Given the description of an element on the screen output the (x, y) to click on. 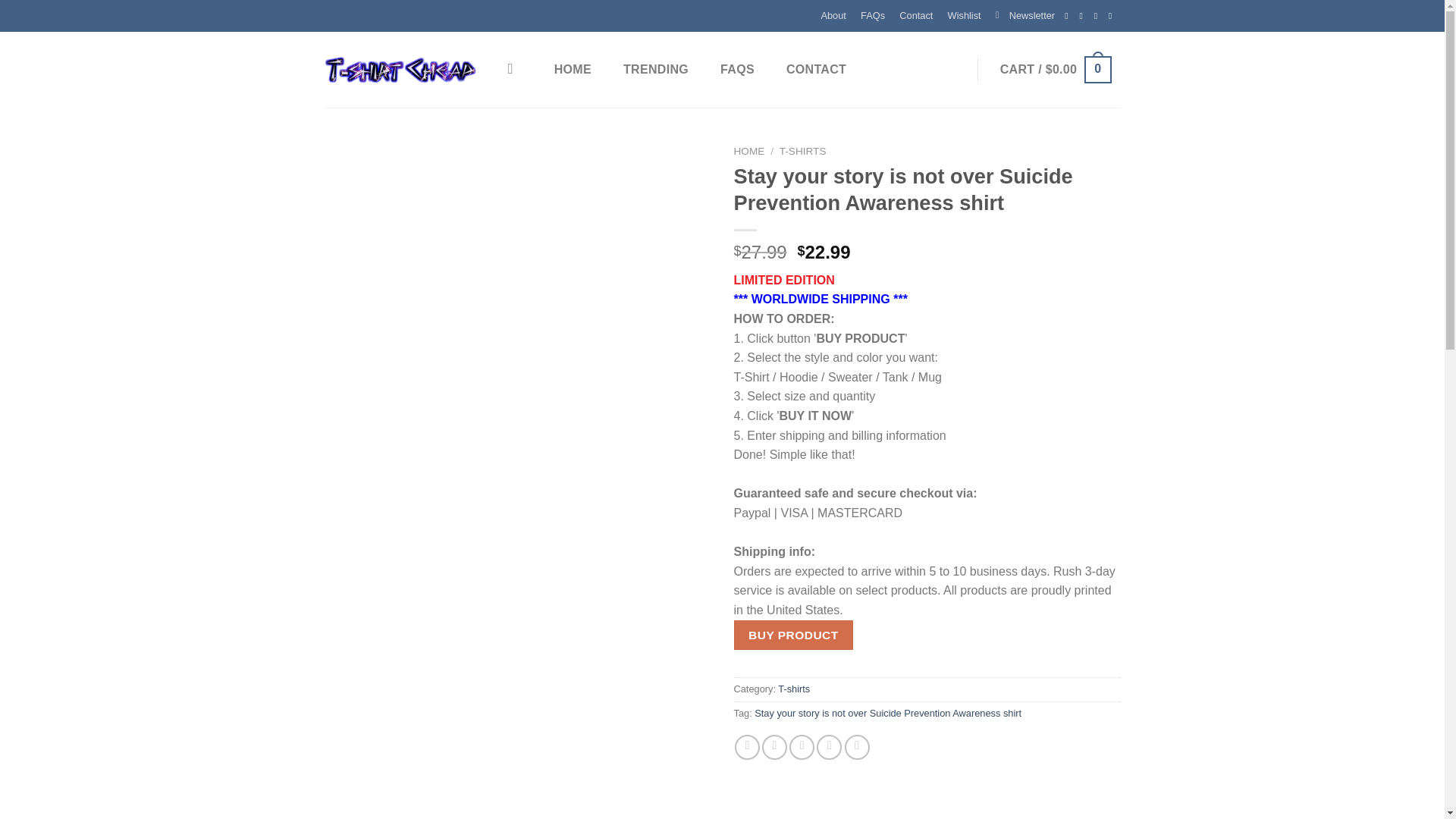
FAQS (736, 69)
Pin on Pinterest (828, 747)
HOME (749, 151)
Share on Twitter (774, 747)
Share on Facebook (747, 747)
Sign up for Newsletter (1024, 15)
Cart (1056, 69)
Email to a Friend (801, 747)
Trend T Shirt Store Online (400, 69)
BUY PRODUCT (793, 634)
